Given the description of an element on the screen output the (x, y) to click on. 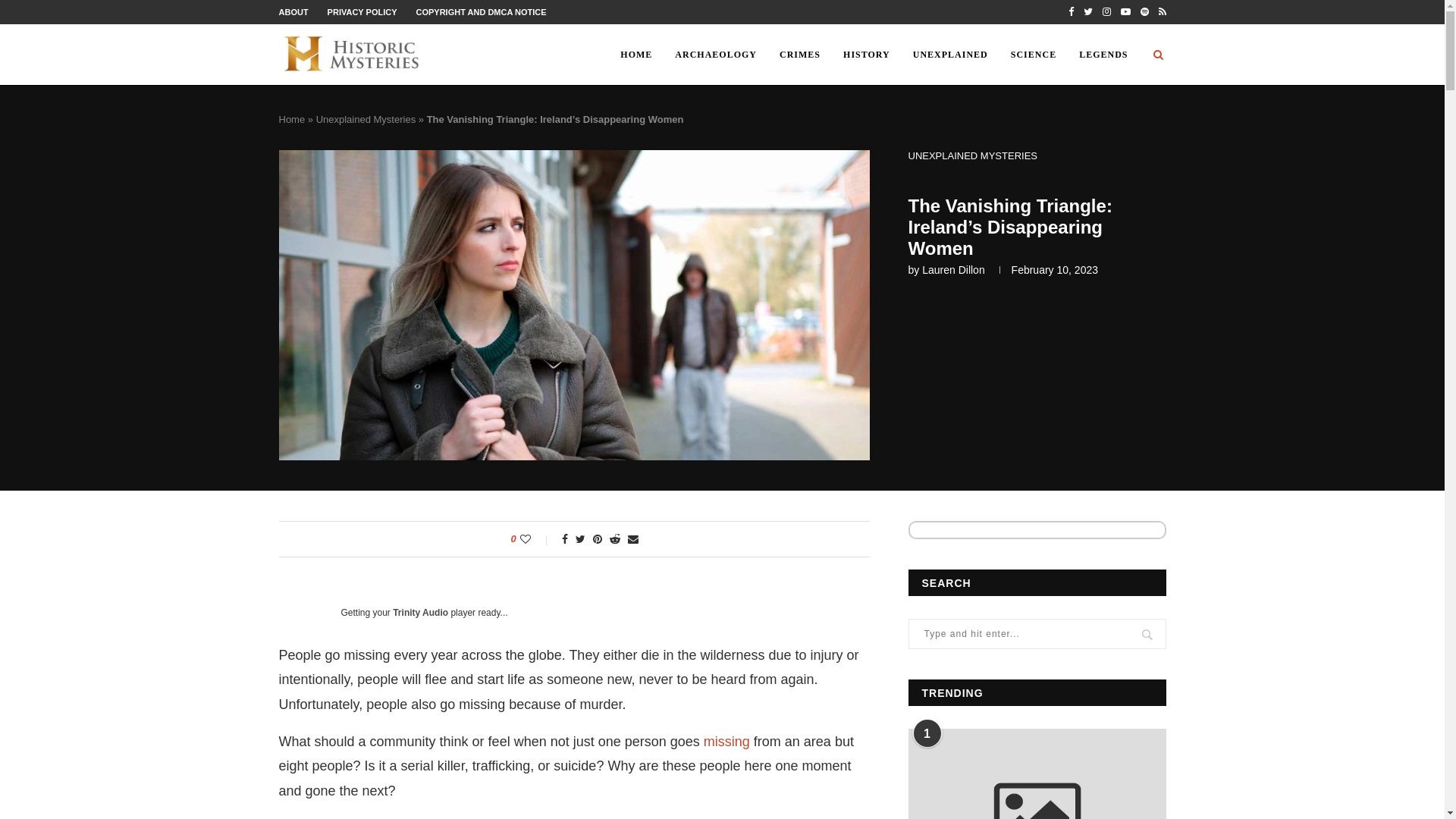
HISTORY (866, 54)
SCIENCE (1032, 54)
PRIVACY POLICY (362, 11)
LEGENDS (1102, 54)
ARCHAEOLOGY (715, 54)
Paranthropus: The Last of the Ape People (1037, 773)
Home (292, 119)
UNEXPLAINED (949, 54)
HOME (635, 54)
Unexplained Mysteries (365, 119)
Lauren Dillon (953, 269)
CRIMES (799, 54)
UNEXPLAINED MYSTERIES (973, 155)
Like (535, 539)
COPYRIGHT AND DMCA NOTICE (480, 11)
